Given the description of an element on the screen output the (x, y) to click on. 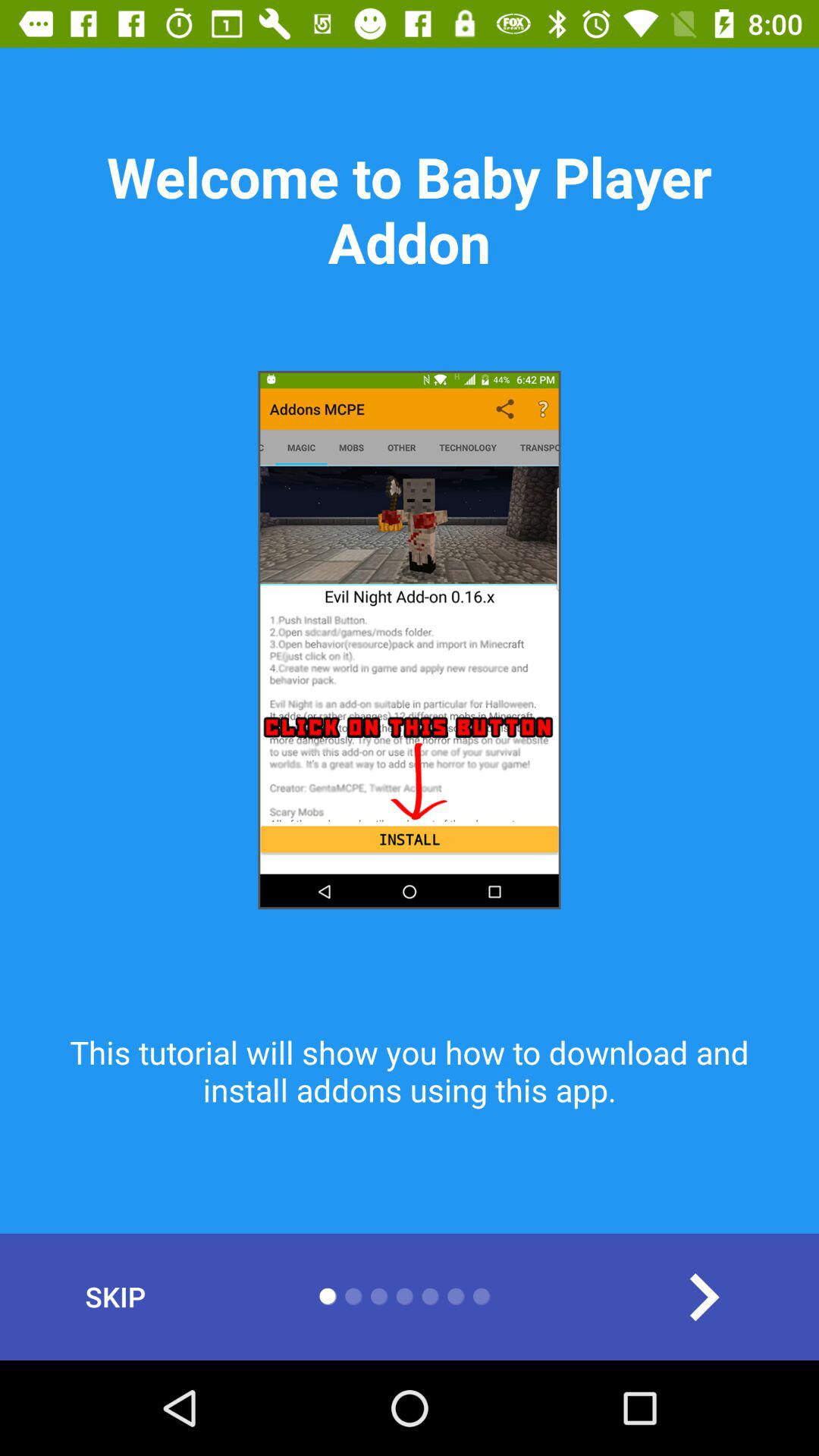
click skip at the bottom left corner (114, 1296)
